Given the description of an element on the screen output the (x, y) to click on. 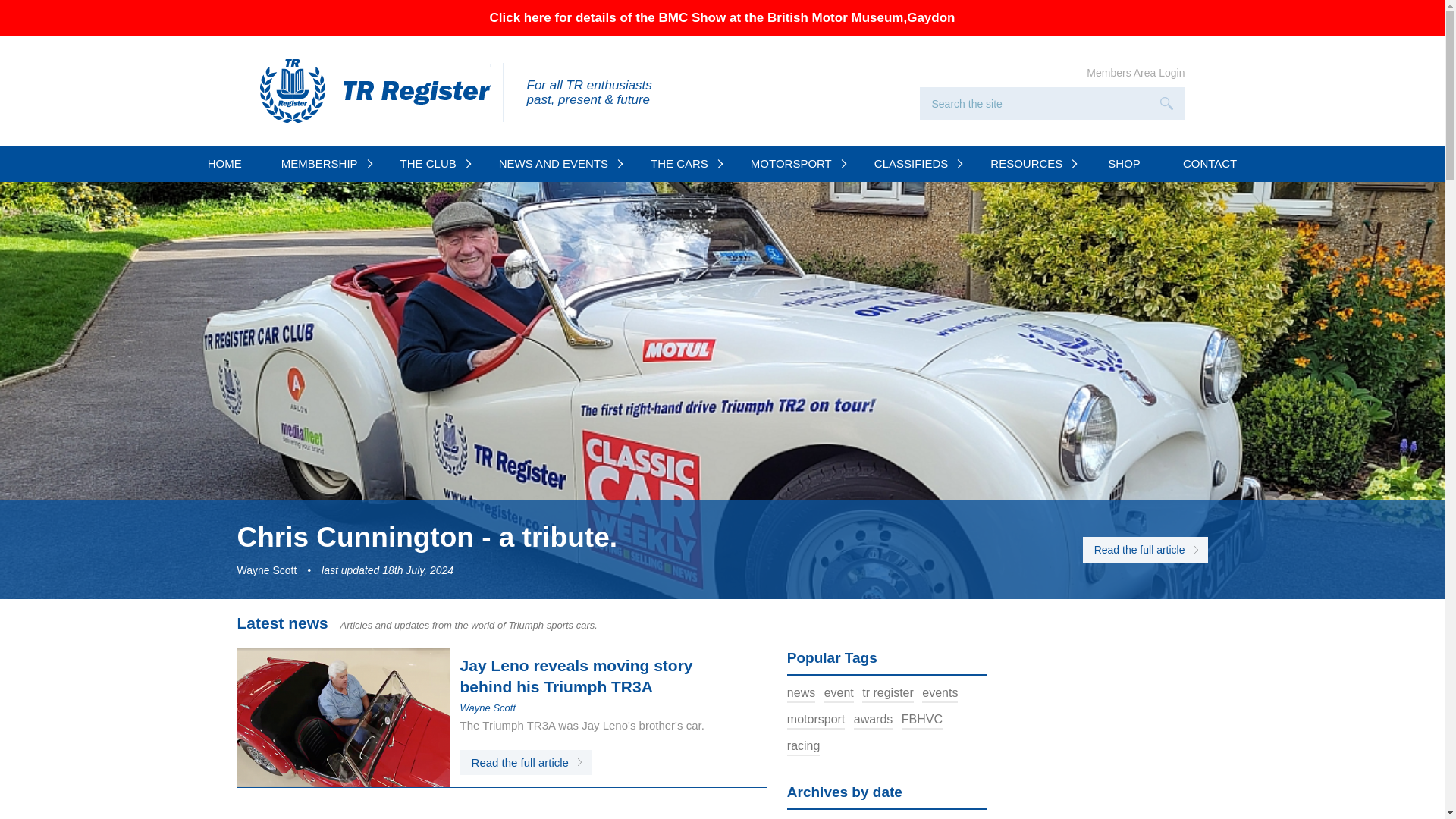
THE CARS (681, 163)
MOTORSPORT (794, 163)
TR Register (374, 90)
Members Area Login (1135, 72)
NEWS AND EVENTS (555, 163)
HOME (224, 163)
THE CLUB (430, 163)
MEMBERSHIP (322, 163)
